Given the description of an element on the screen output the (x, y) to click on. 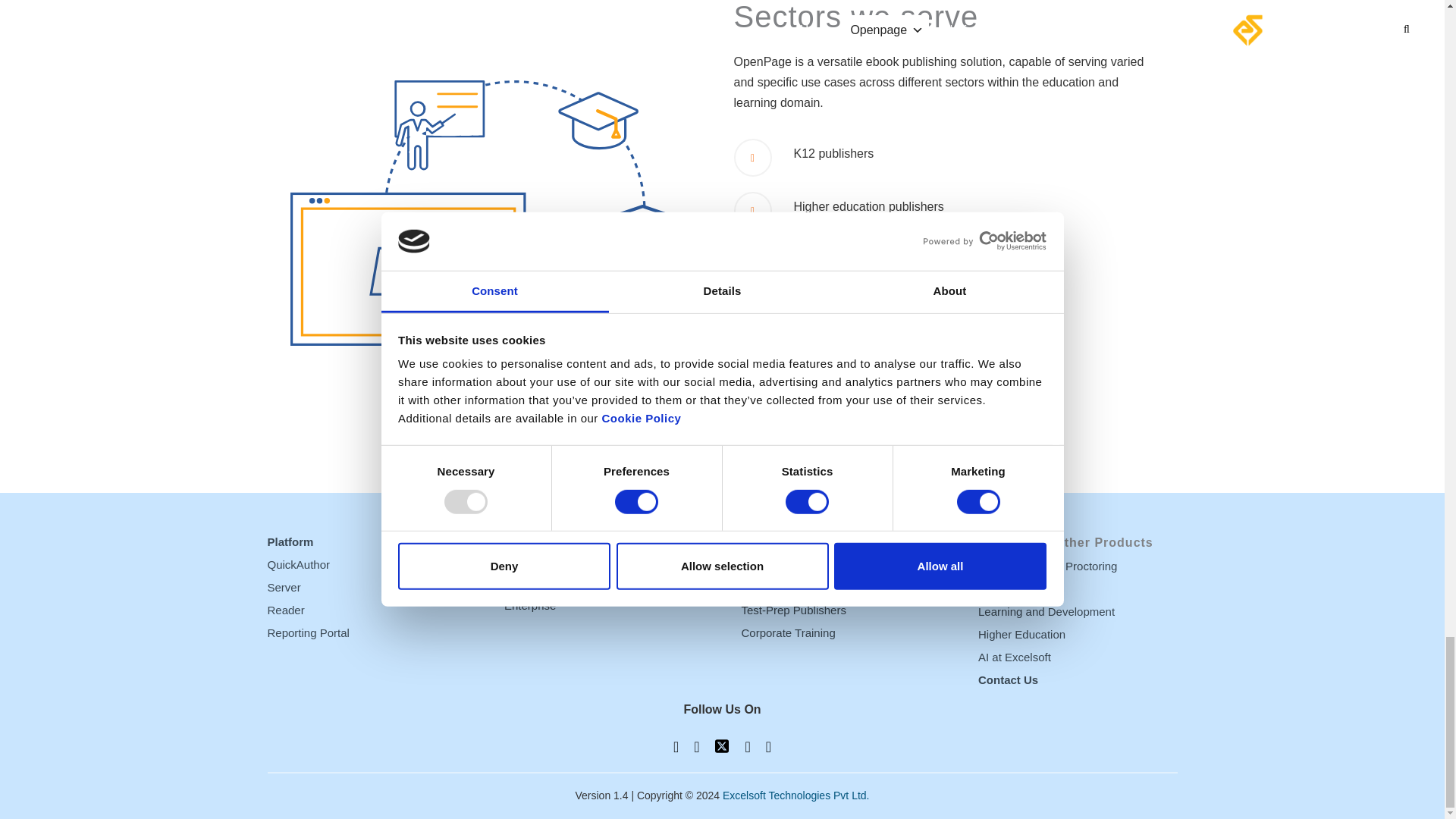
Sectors (780, 400)
Facebook (675, 746)
